Given the description of an element on the screen output the (x, y) to click on. 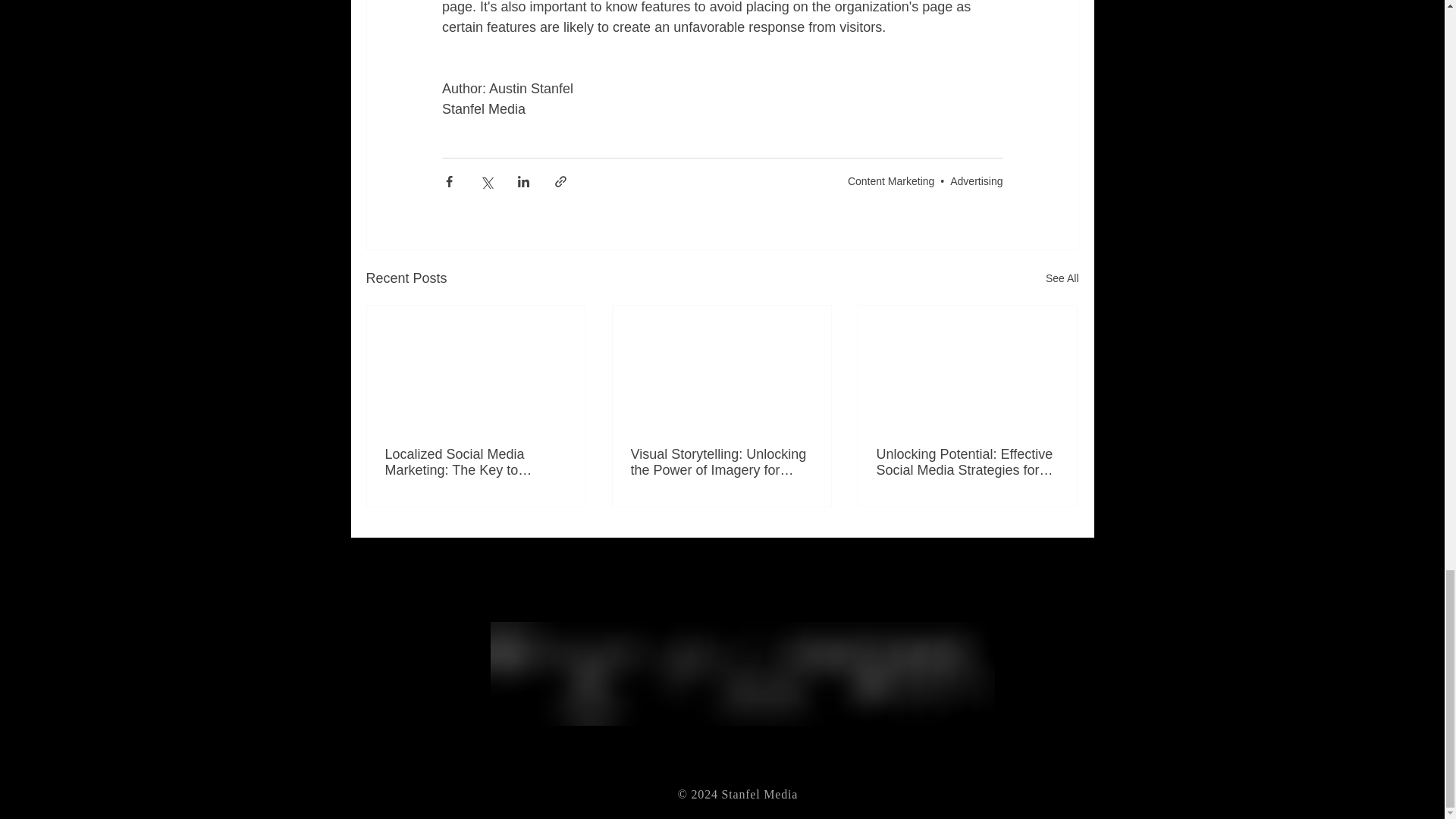
See All (1061, 278)
LOGO-BAR.png (741, 673)
Advertising (976, 181)
Content Marketing (890, 181)
